Given the description of an element on the screen output the (x, y) to click on. 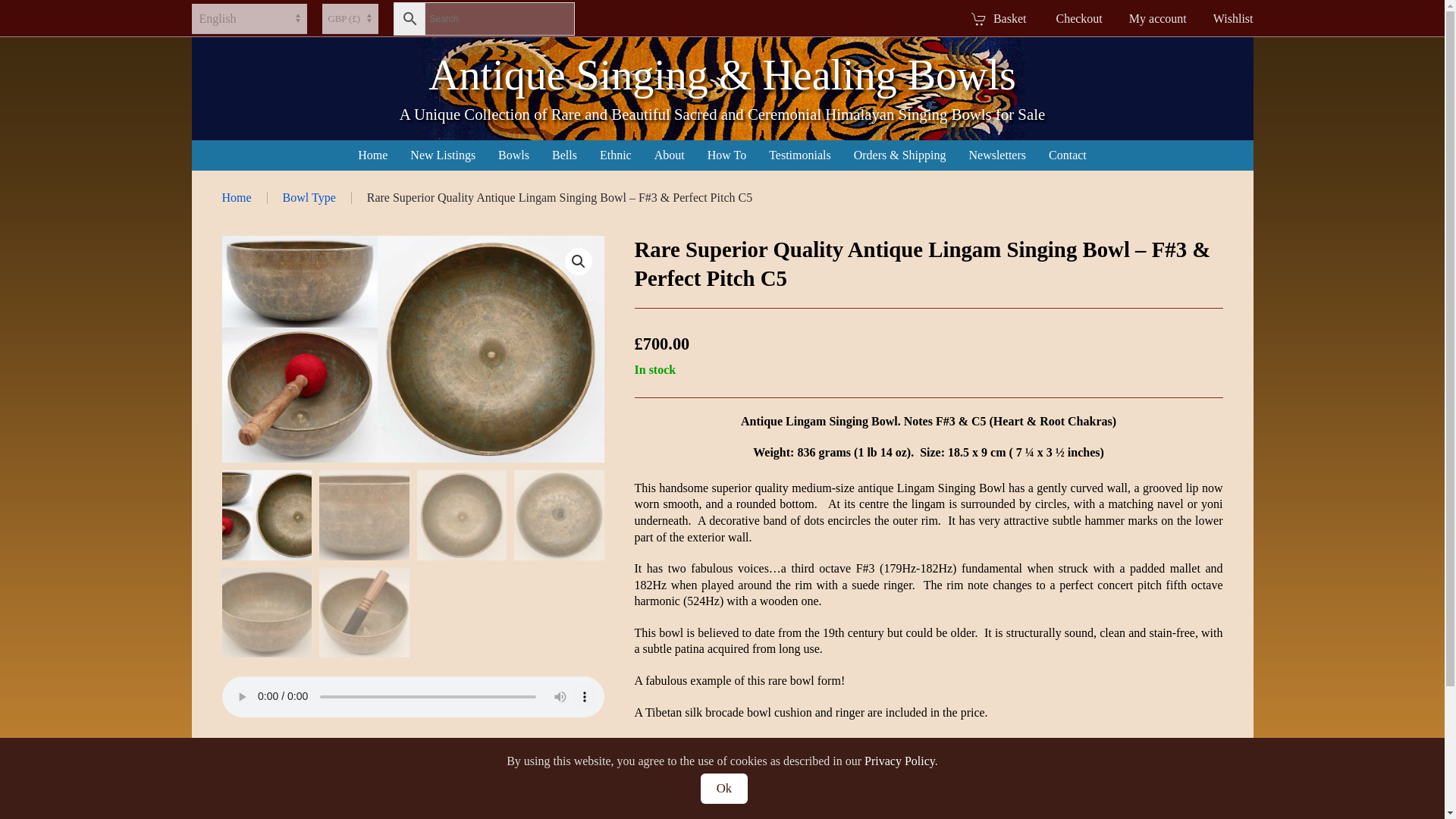
Original price:700 (660, 343)
Lingam836fs3x (412, 348)
